Given the description of an element on the screen output the (x, y) to click on. 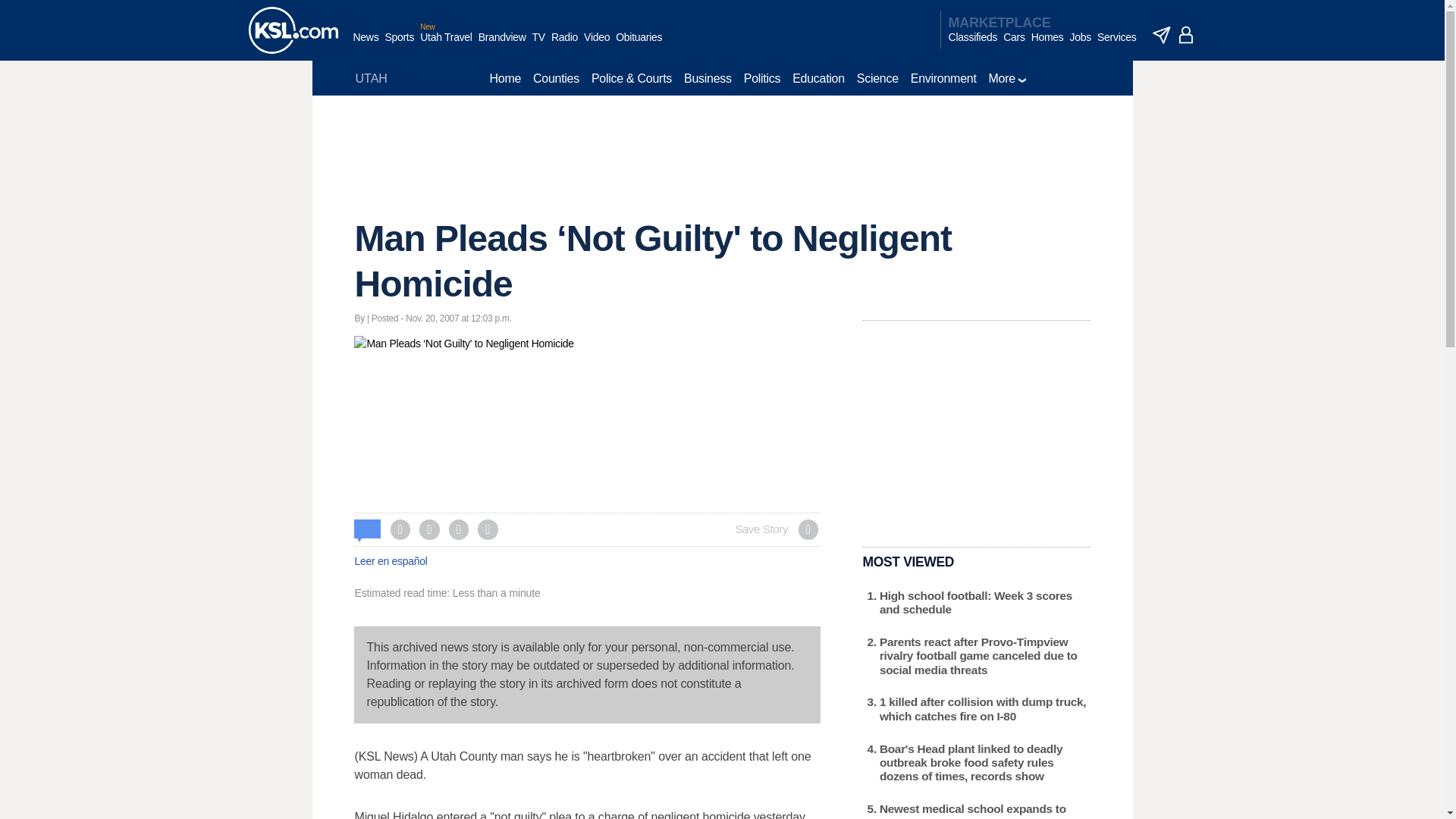
Brandview (502, 45)
Sports (398, 45)
Utah Travel (445, 45)
account - logged out (1185, 34)
KSL homepage (292, 30)
KSL homepage (292, 29)
